Given the description of an element on the screen output the (x, y) to click on. 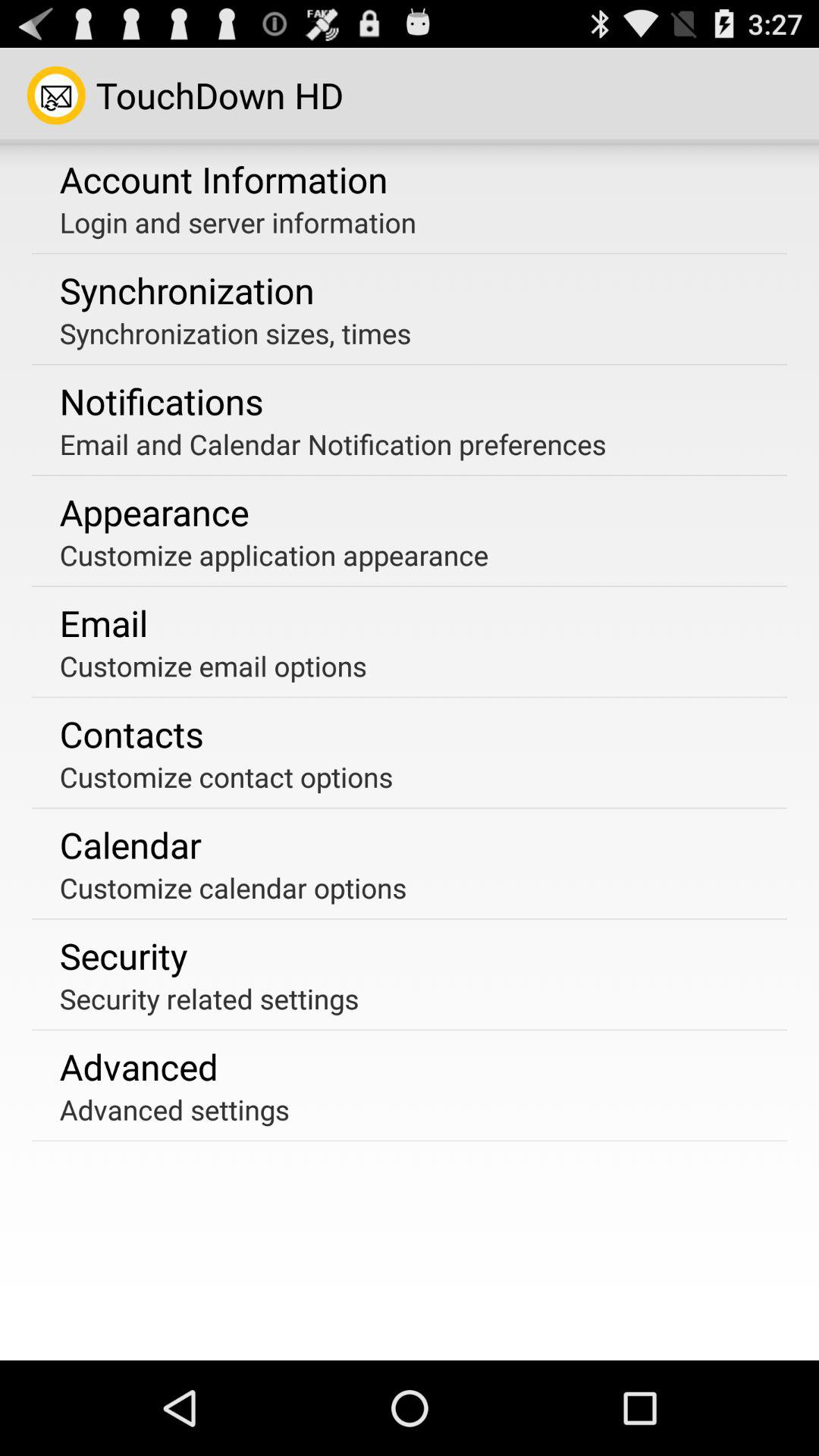
scroll to login and server item (237, 222)
